Given the description of an element on the screen output the (x, y) to click on. 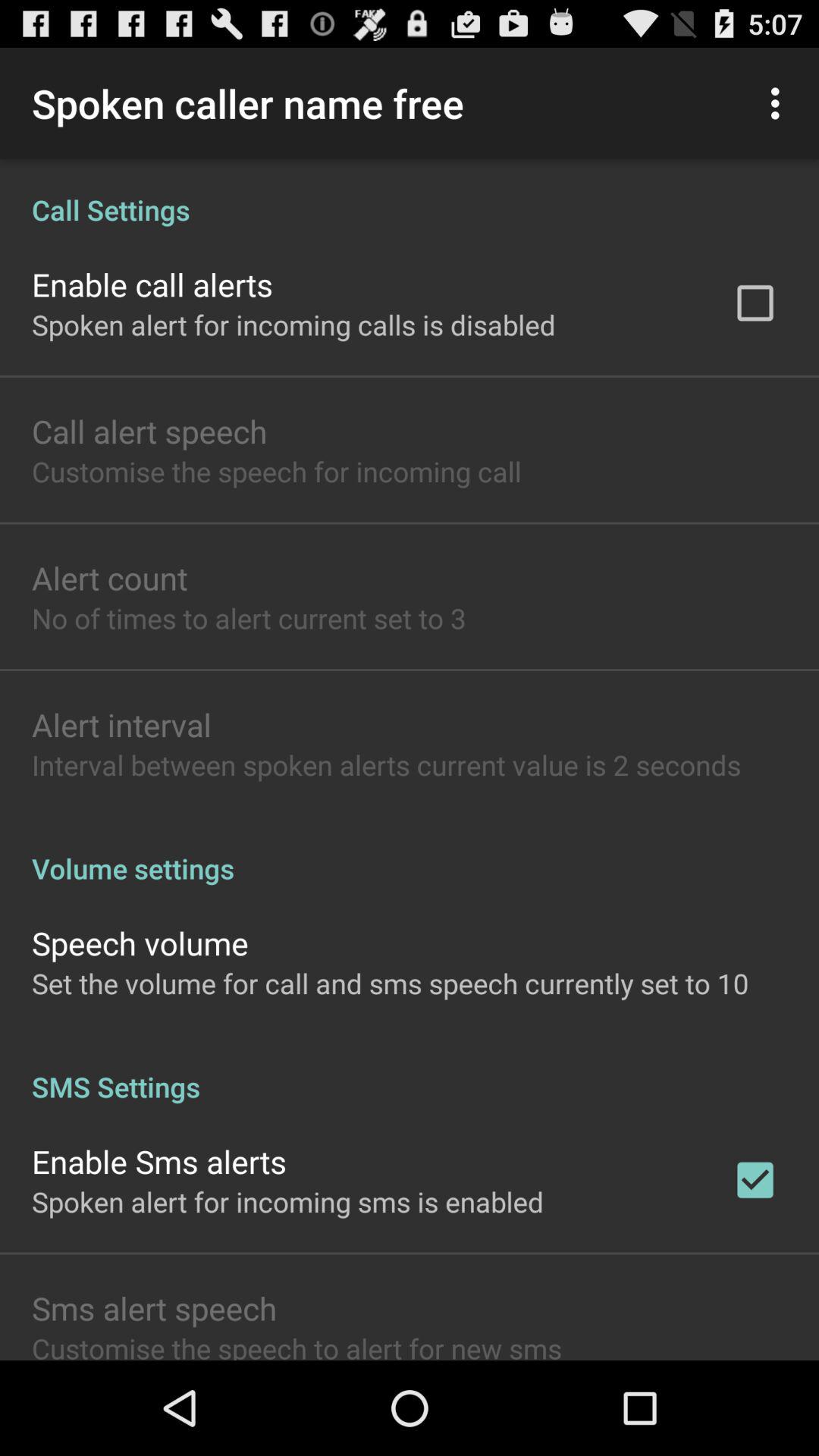
launch item above the volume settings icon (386, 764)
